Given the description of an element on the screen output the (x, y) to click on. 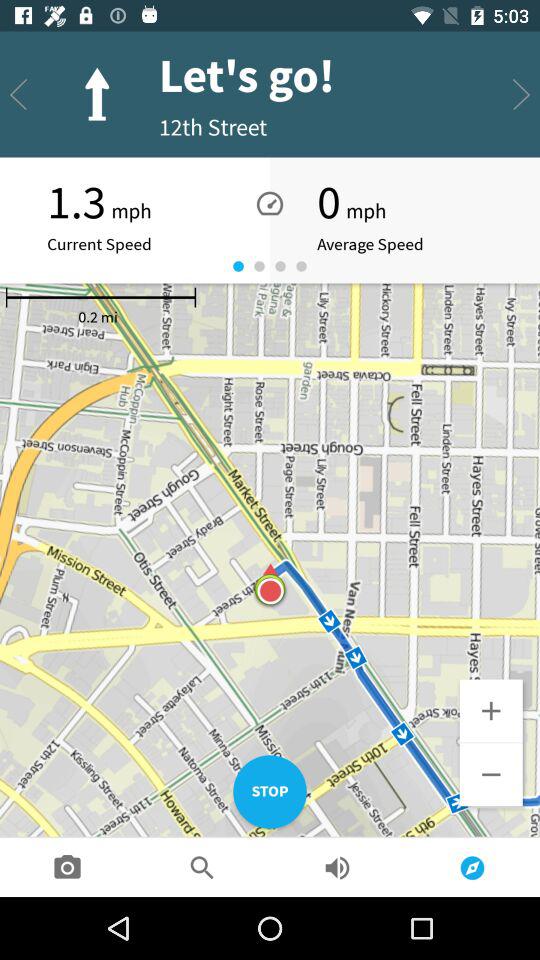
jump to the stop item (269, 791)
